Given the description of an element on the screen output the (x, y) to click on. 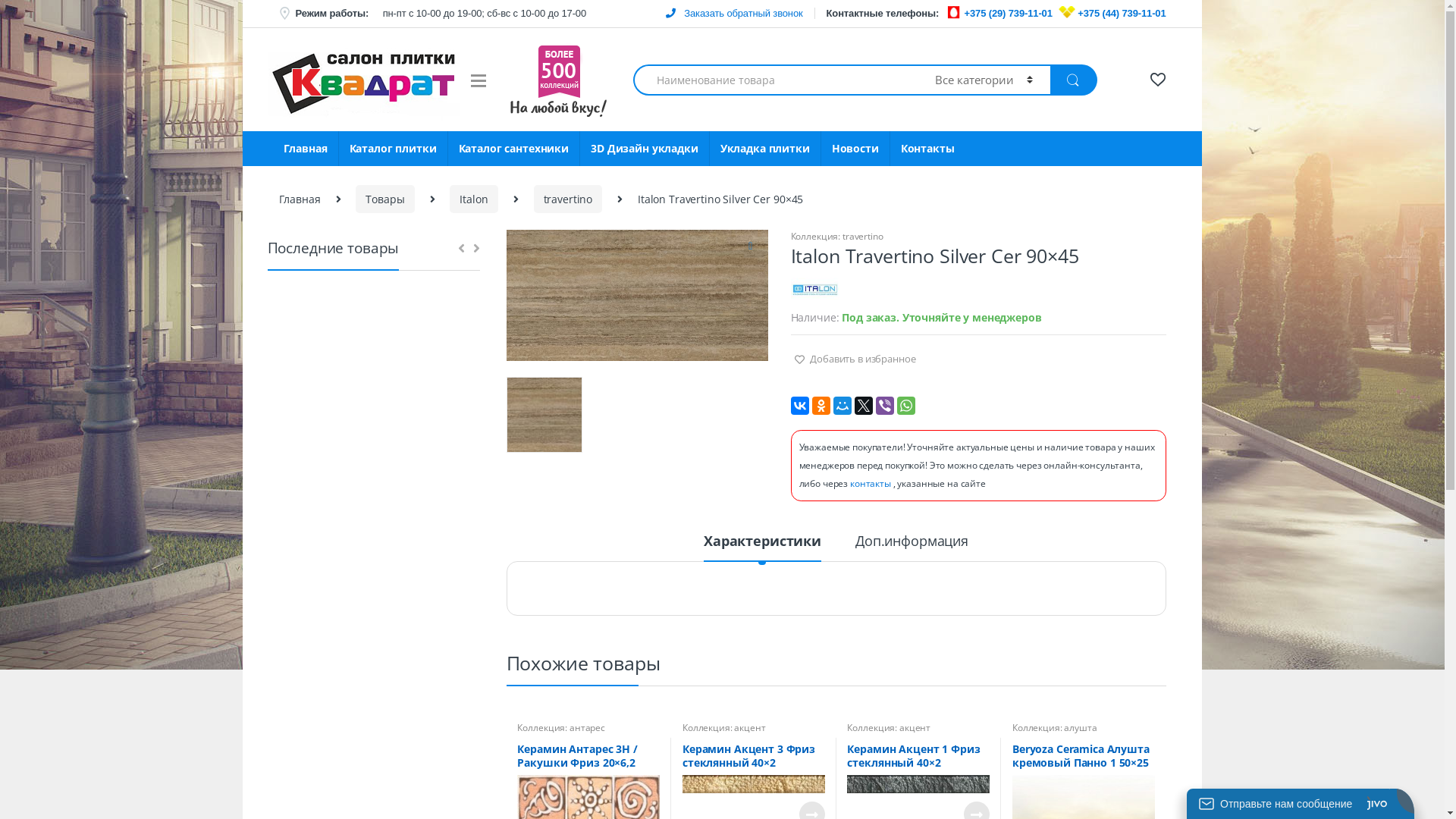
+375 (29) 739-11-01 Element type: text (1008, 12)
travertino Element type: text (862, 235)
Twitter Element type: hover (862, 405)
+375 (44) 739-11-01 Element type: text (1121, 12)
WhatsApp Element type: hover (905, 405)
Viber Element type: hover (884, 405)
travertino Element type: text (567, 199)
Italon Element type: text (473, 199)
Italon Travertino Silver Cer 90x45 229830 Element type: hover (637, 294)
